Given the description of an element on the screen output the (x, y) to click on. 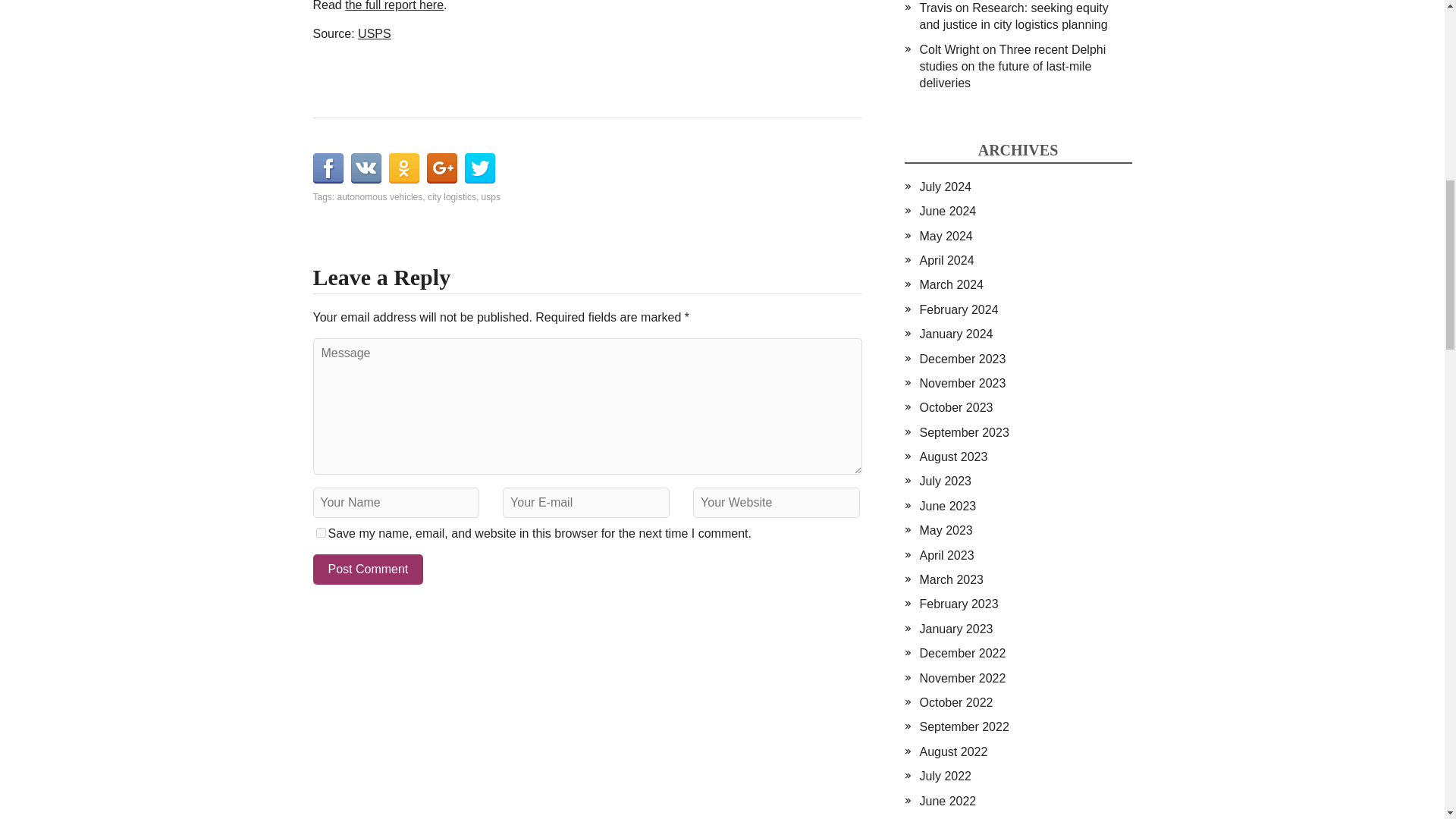
yes (319, 532)
July 2024 (944, 186)
June 2024 (946, 210)
March 2024 (951, 284)
usps (490, 196)
Post Comment (368, 569)
city logistics (452, 196)
Share in Facebook (327, 168)
USPS (374, 33)
autonomous vehicles (380, 196)
May 2024 (945, 236)
Colt Wright (948, 49)
Share in OK (403, 168)
